Given the description of an element on the screen output the (x, y) to click on. 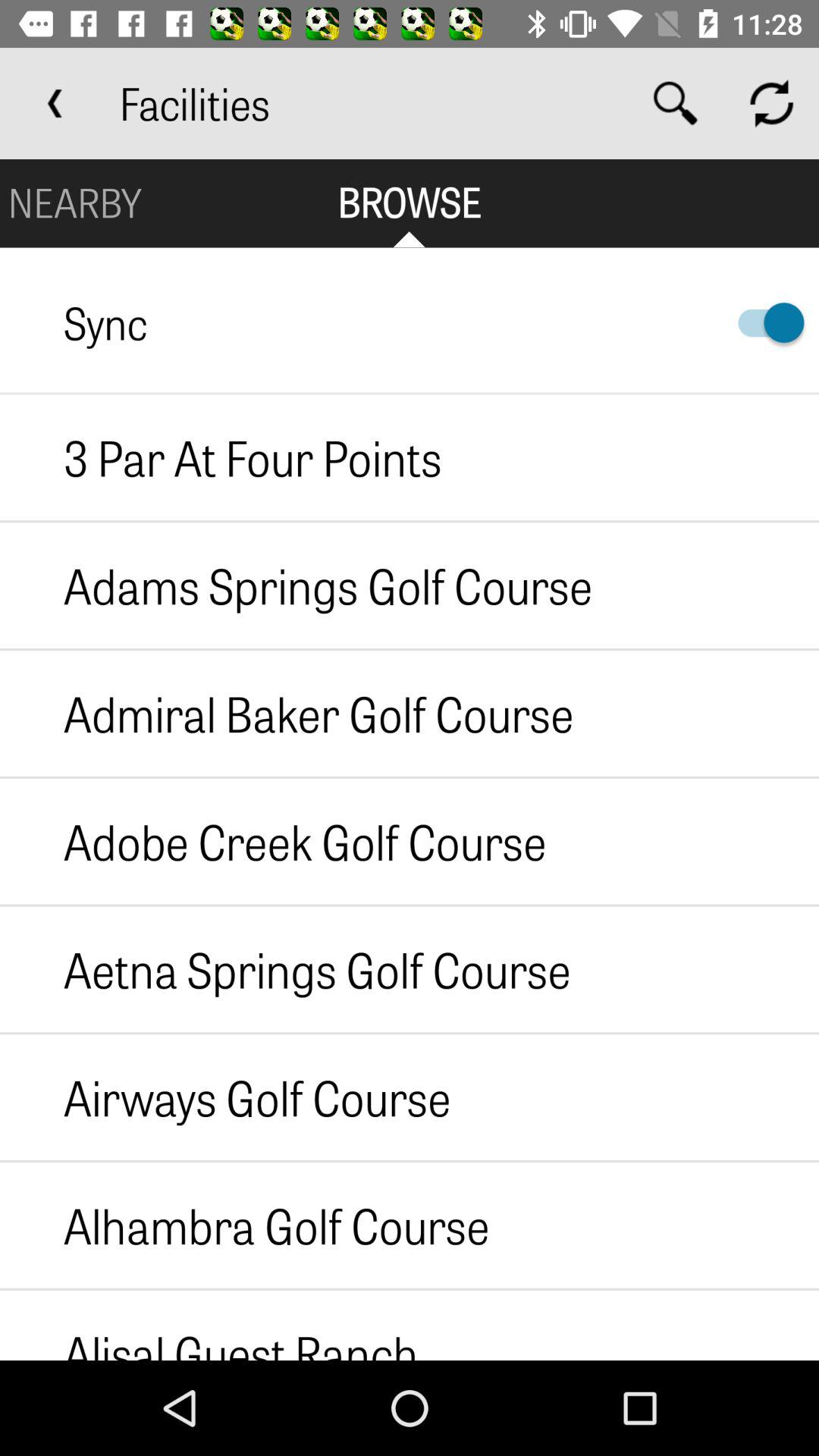
scroll until the alhambra golf course icon (244, 1225)
